Given the description of an element on the screen output the (x, y) to click on. 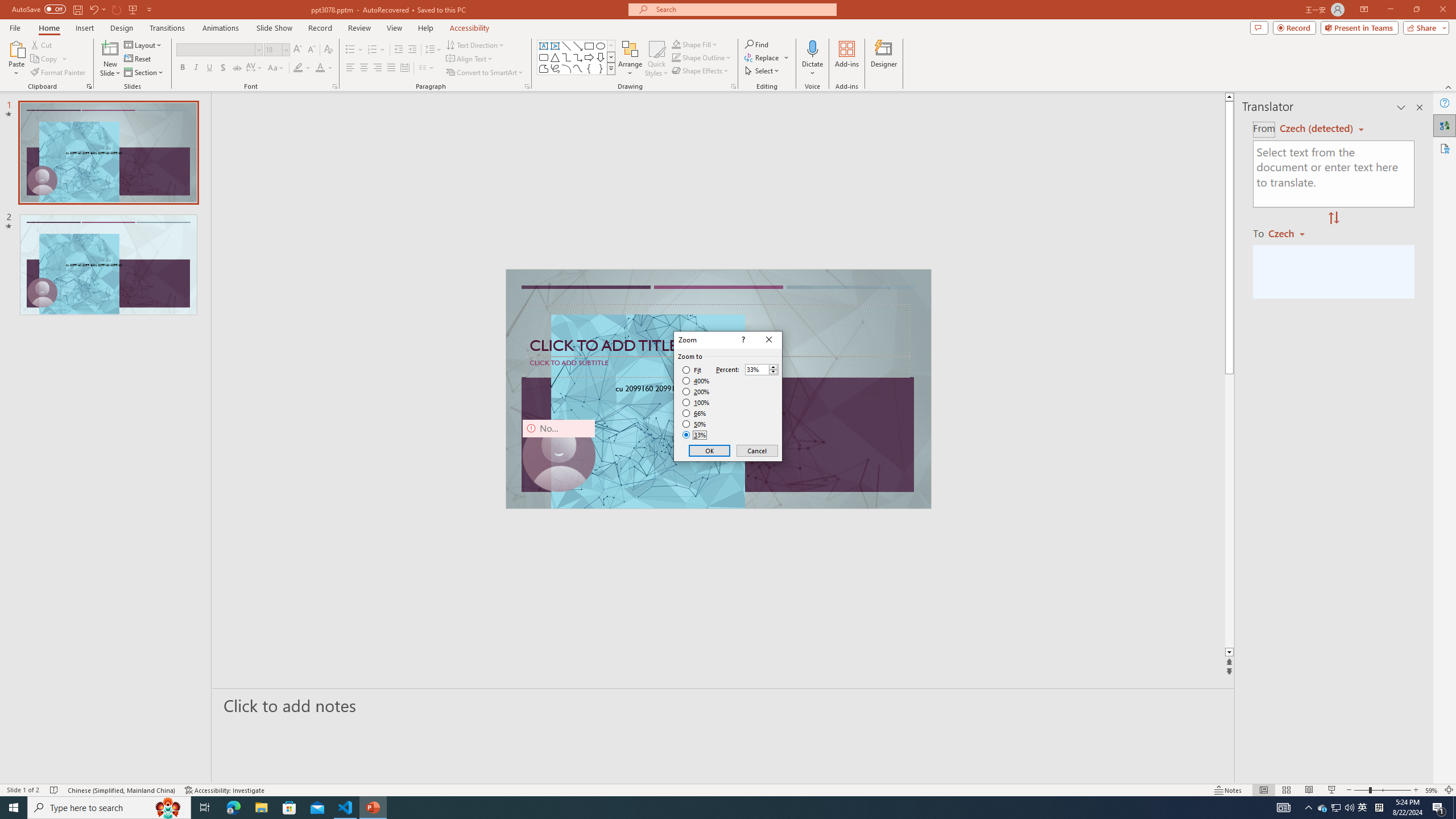
Center (363, 67)
Select (762, 69)
Find... (756, 44)
Layout (143, 44)
